Given the description of an element on the screen output the (x, y) to click on. 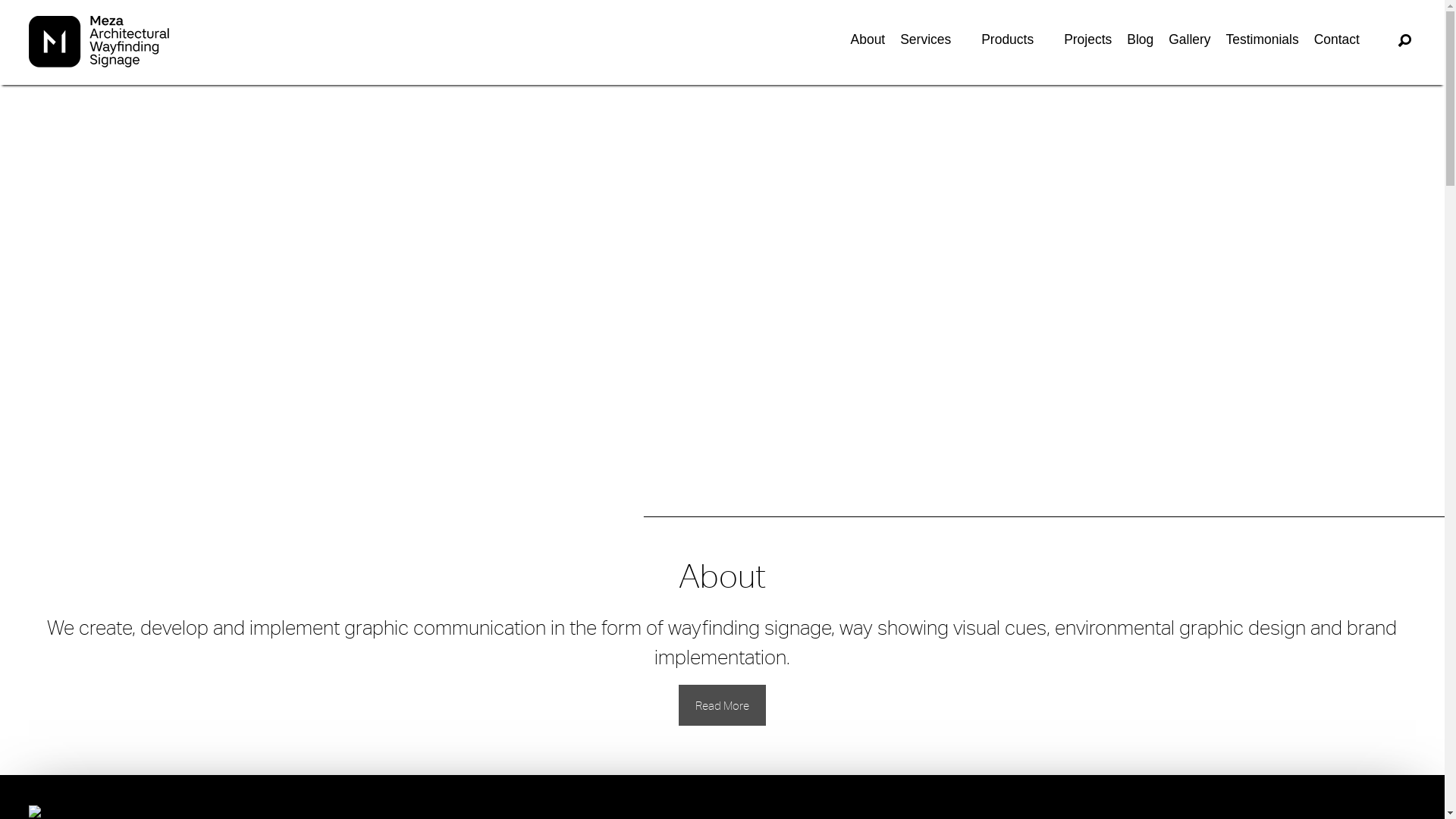
Services Element type: text (933, 39)
Services Element type: text (925, 39)
Contact Element type: text (1336, 39)
Blog Element type: text (1139, 39)
Read More Element type: text (721, 704)
Testimonials Element type: text (1262, 39)
Blog Element type: text (1139, 39)
Contact Element type: text (1336, 39)
Gallery Element type: text (1189, 39)
Products Element type: text (1007, 39)
About Element type: text (867, 39)
Products Element type: text (1014, 39)
Testimonials Element type: text (1262, 39)
About Element type: text (867, 39)
Projects Element type: text (1087, 39)
Gallery Element type: text (1189, 39)
Projects Element type: text (1087, 39)
